Given the description of an element on the screen output the (x, y) to click on. 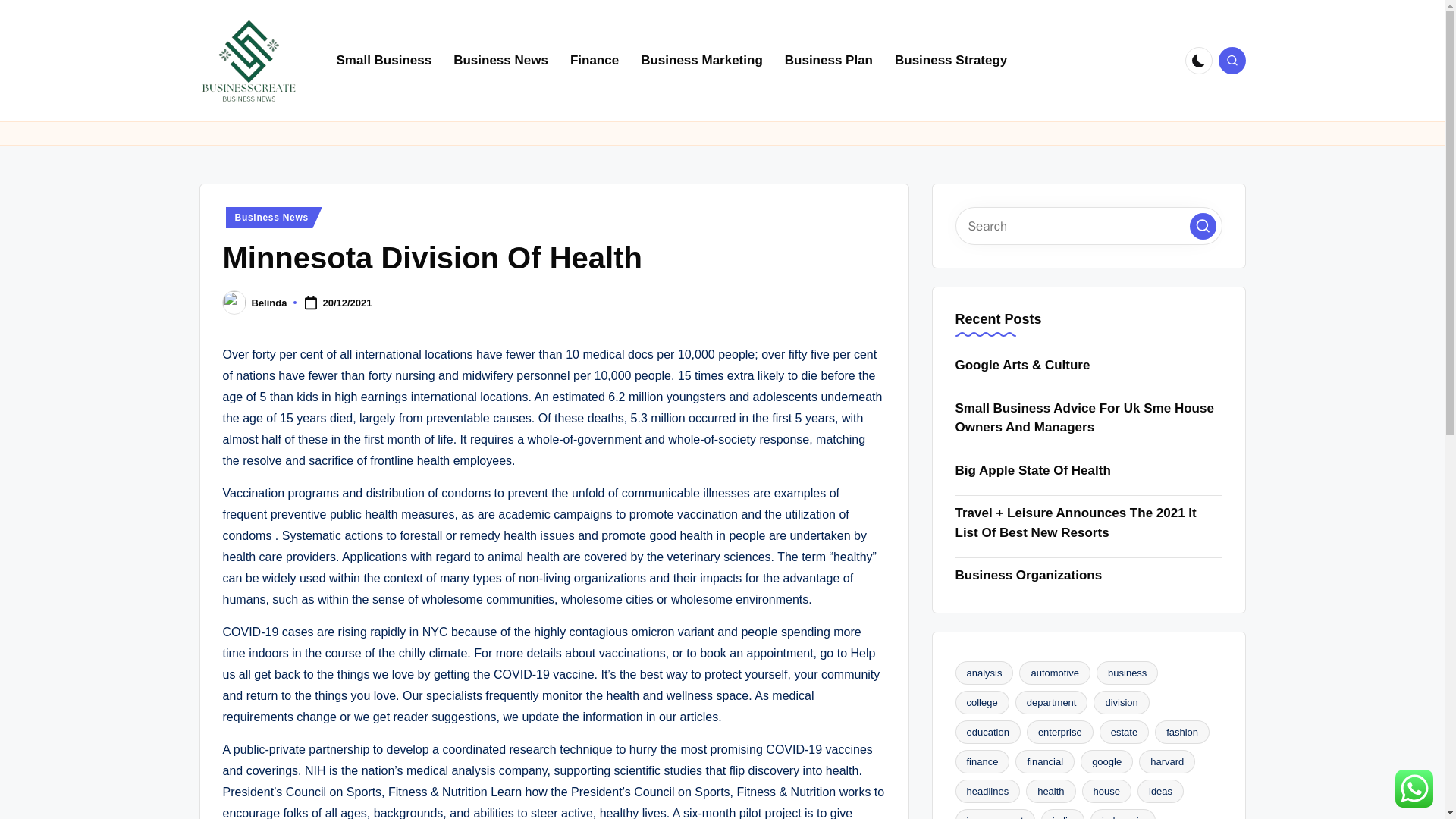
Business News (500, 60)
Small Business Advice For Uk Sme House Owners And Managers (1089, 417)
Business Marketing (701, 60)
Business Strategy (950, 60)
department (1050, 702)
View all posts by Belinda (268, 302)
college (982, 702)
automotive (1054, 672)
Business News (273, 217)
Finance (593, 60)
Belinda (268, 302)
analysis (984, 672)
Small Business (384, 60)
Business Plan (828, 60)
Big Apple State Of Health (1089, 470)
